Given the description of an element on the screen output the (x, y) to click on. 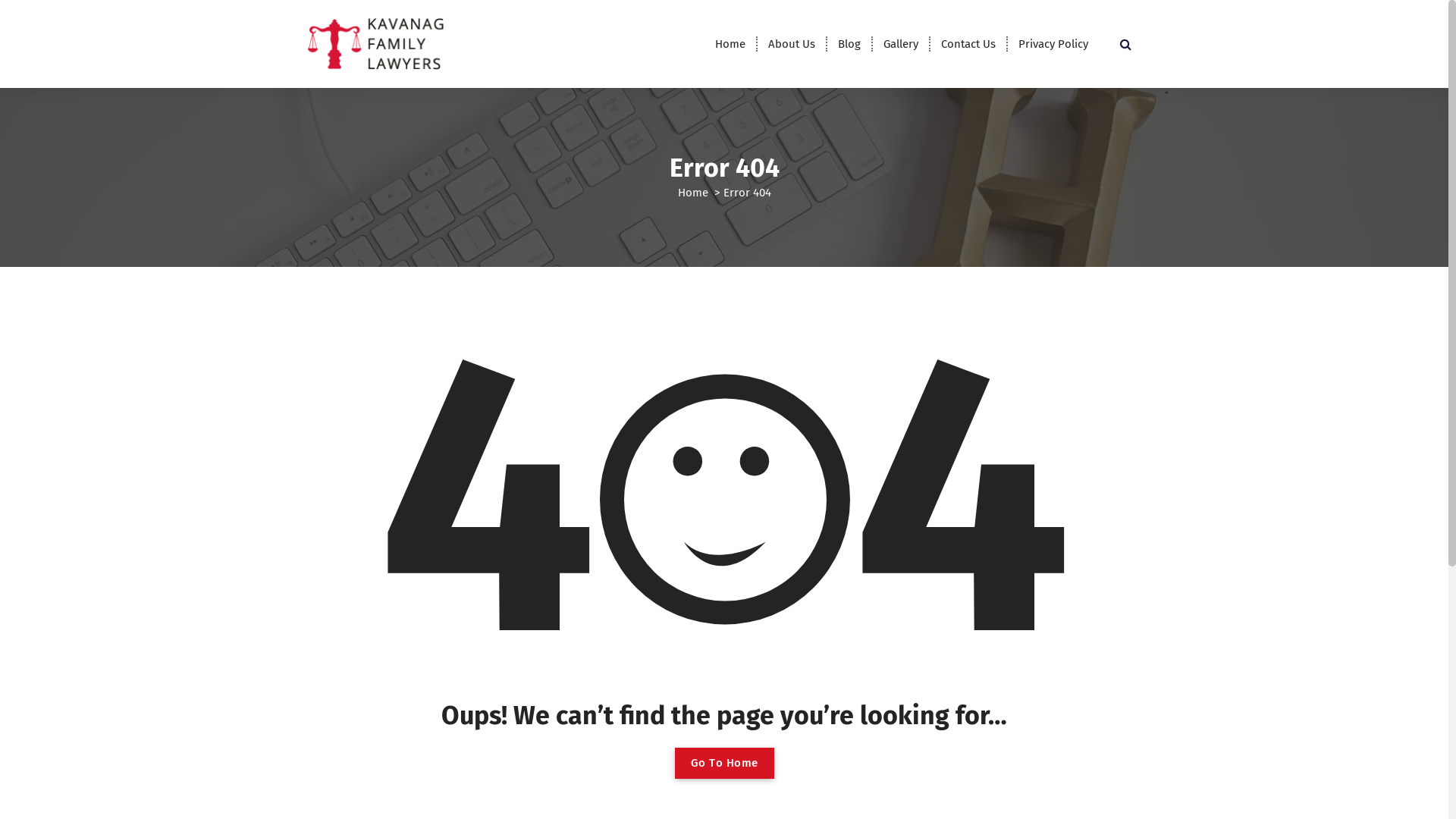
Home Element type: text (729, 43)
Privacy Policy Element type: text (1053, 43)
Contact Us Element type: text (967, 43)
Home Element type: text (692, 192)
Gallery Element type: text (900, 43)
About Us Element type: text (791, 43)
G
o
 T
o
 H
o
m
e Element type: text (724, 762)
Blog Element type: text (848, 43)
